Given the description of an element on the screen output the (x, y) to click on. 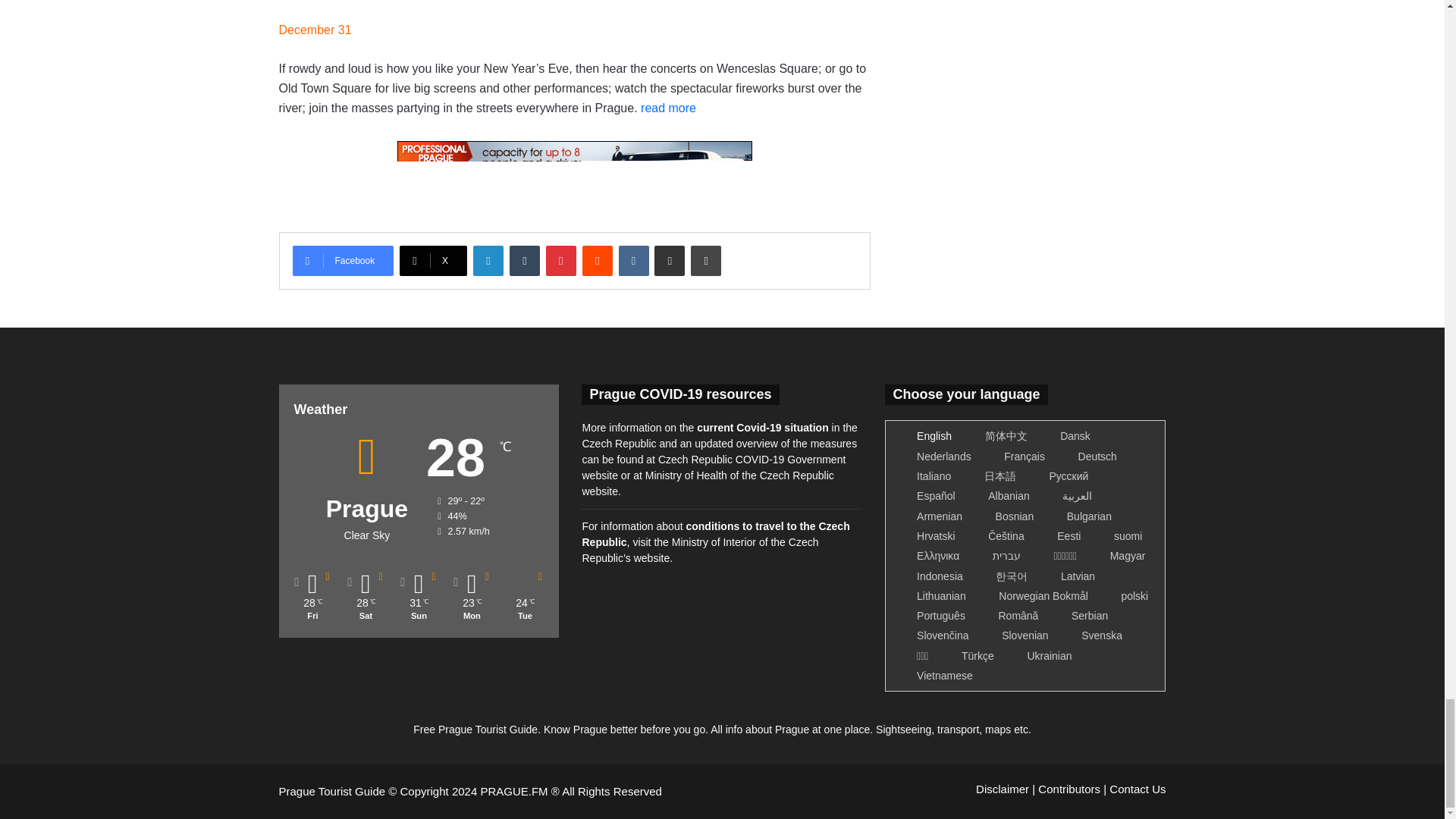
VKontakte (633, 260)
Tumblr (524, 260)
X (432, 260)
Share via Email (668, 260)
Reddit (597, 260)
LinkedIn (488, 260)
Facebook (343, 260)
Print (705, 260)
Pinterest (561, 260)
